Given the description of an element on the screen output the (x, y) to click on. 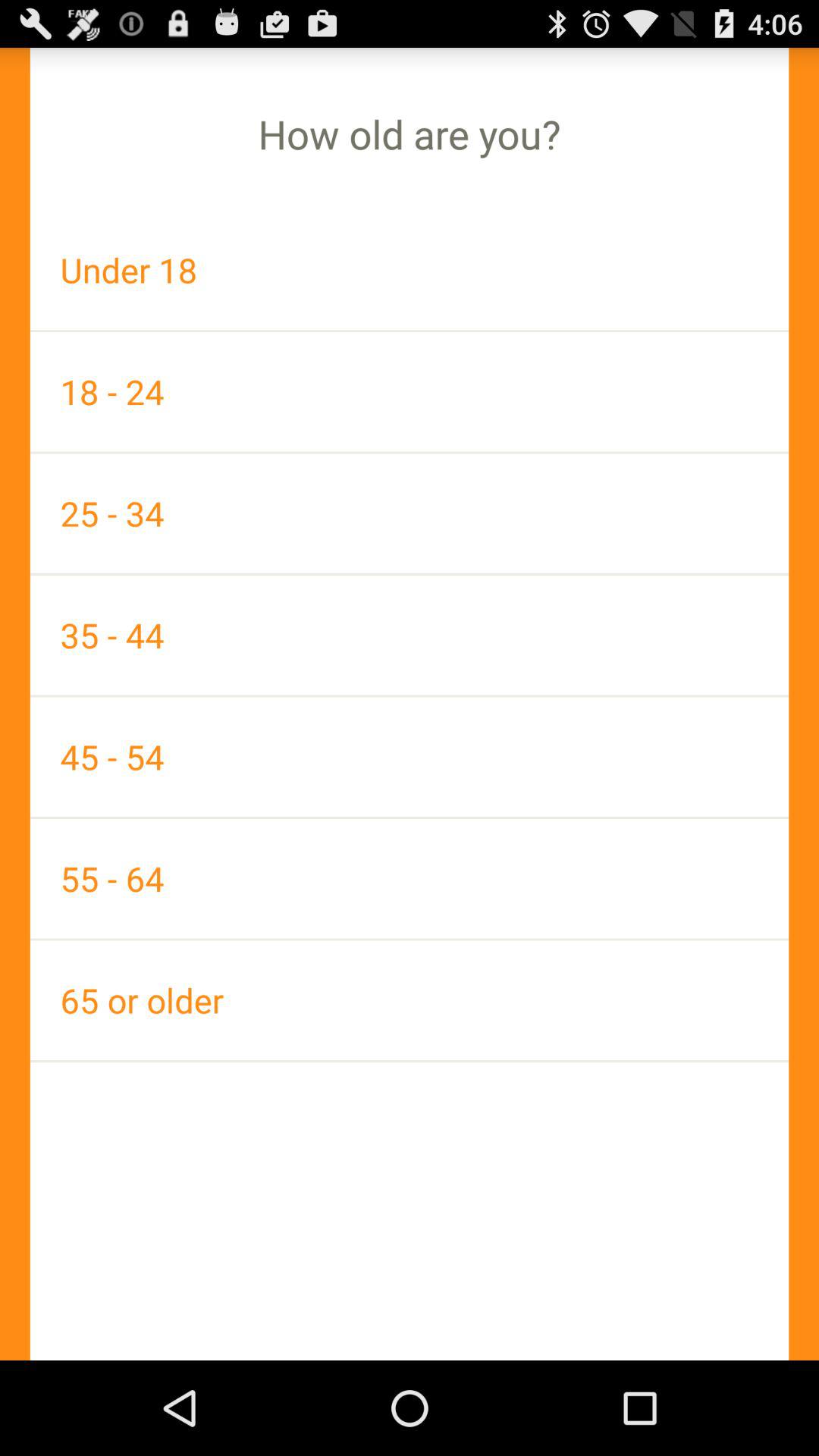
scroll until 65 or older icon (409, 1000)
